Given the description of an element on the screen output the (x, y) to click on. 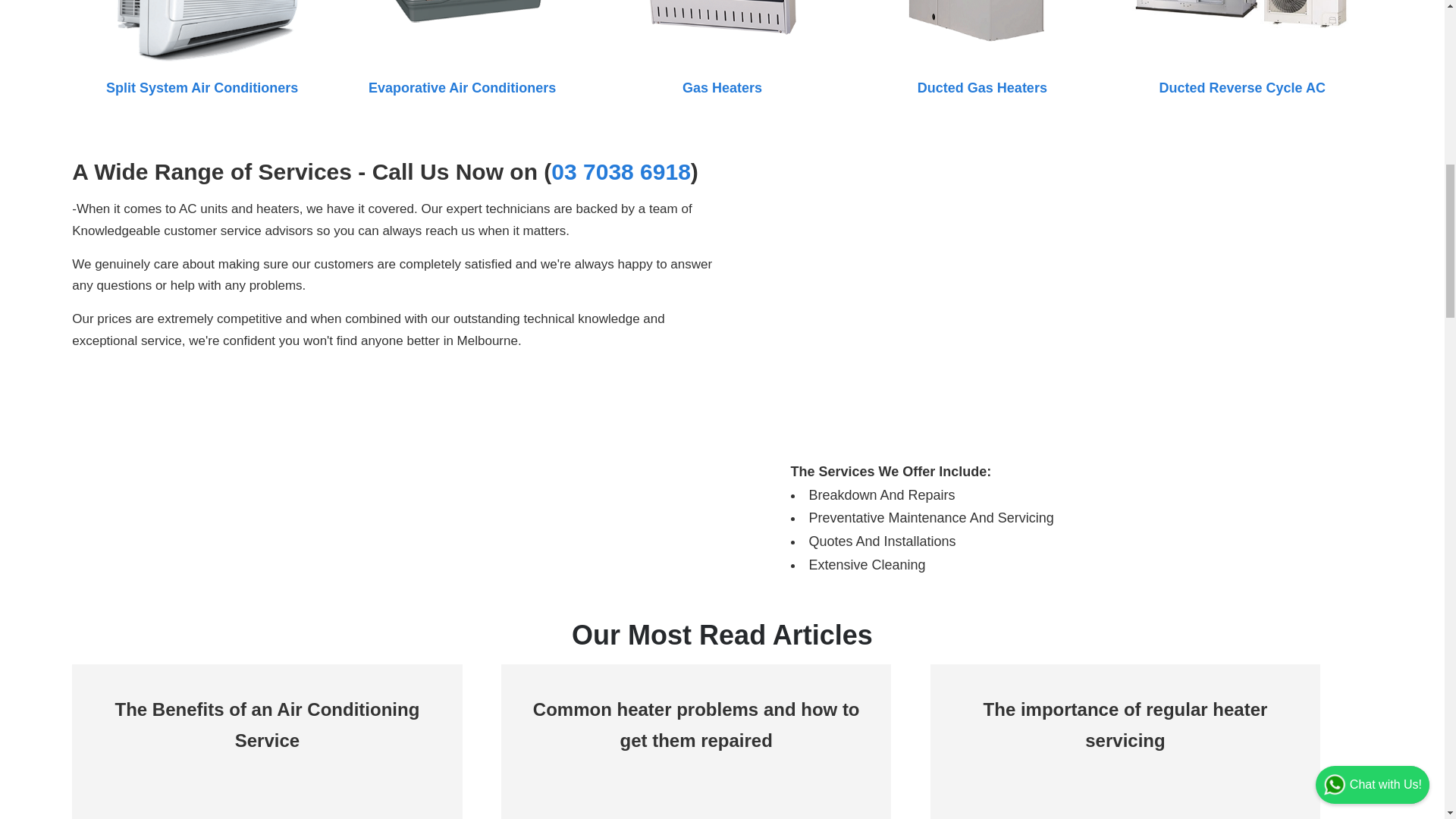
Ducted Reverse Cycle AC (1241, 87)
Evaporative Air Conditioners (462, 87)
Gas Heaters (721, 87)
Split System Air Conditioners (202, 87)
Evaporative Air Conditioners (462, 87)
03 7038 6918 (620, 171)
Gas Heaters (721, 87)
Ducted Gas Heaters (981, 87)
Split System Air Conditioners (202, 87)
